Given the description of an element on the screen output the (x, y) to click on. 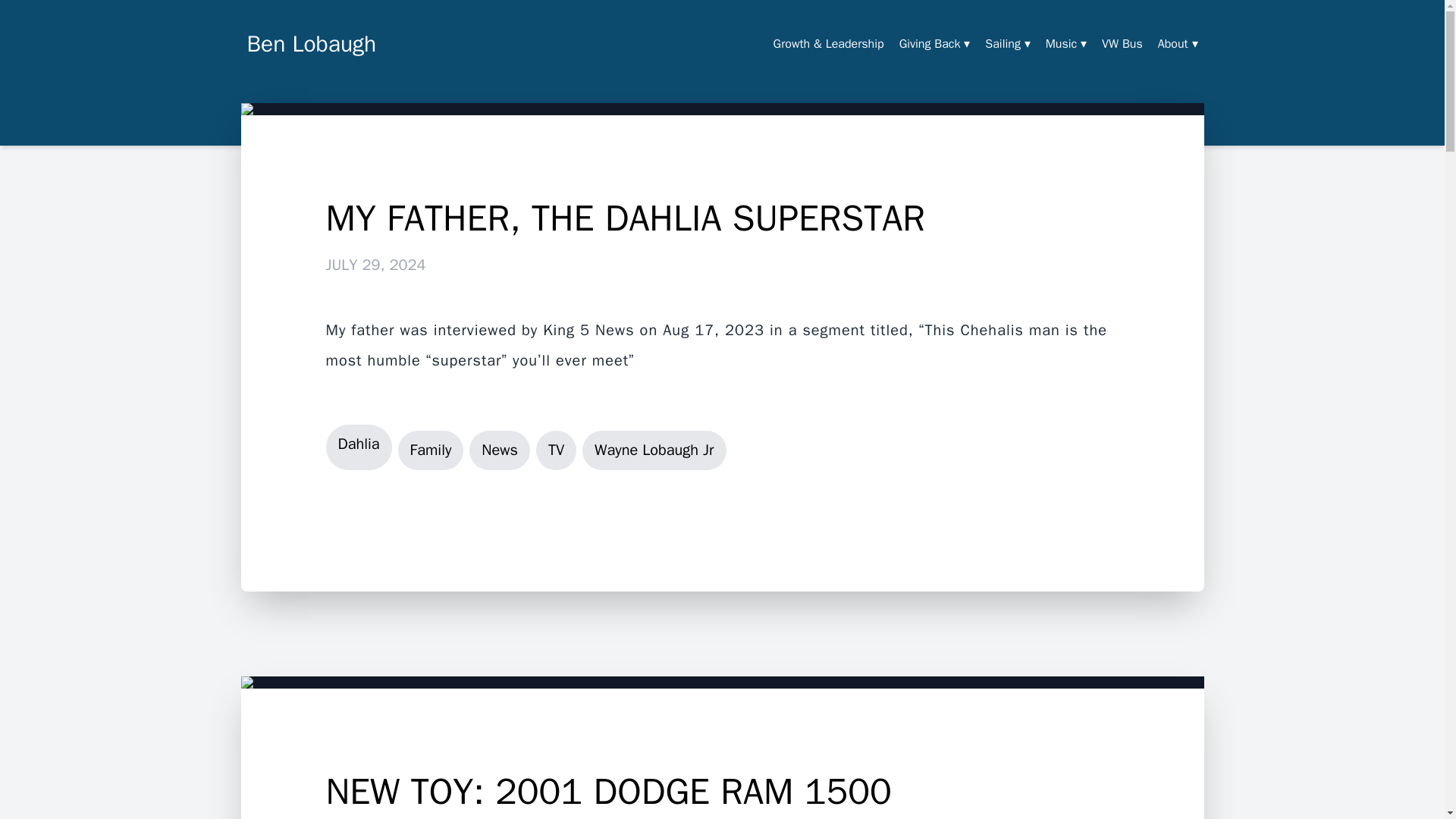
Dahlia (358, 447)
TV (555, 450)
Music (1065, 43)
News (498, 450)
News Tag (498, 450)
NEW TOY: 2001 DODGE RAM 1500 (722, 791)
MY FATHER, THE DAHLIA SUPERSTAR (722, 217)
Giving Back (935, 43)
TV Tag (555, 450)
VW Bus (1122, 43)
